Given the description of an element on the screen output the (x, y) to click on. 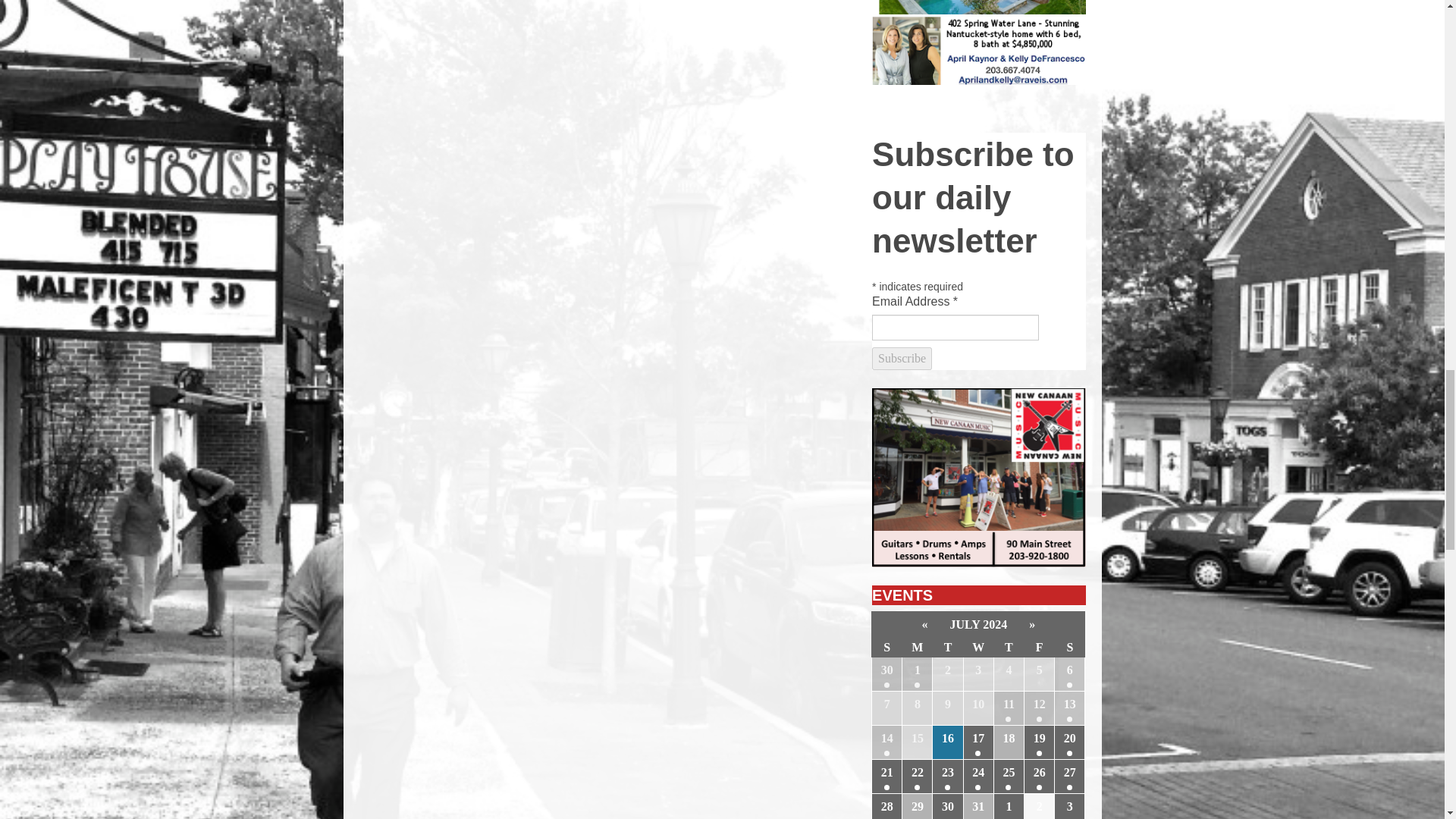
Subscribe (901, 358)
